Given the description of an element on the screen output the (x, y) to click on. 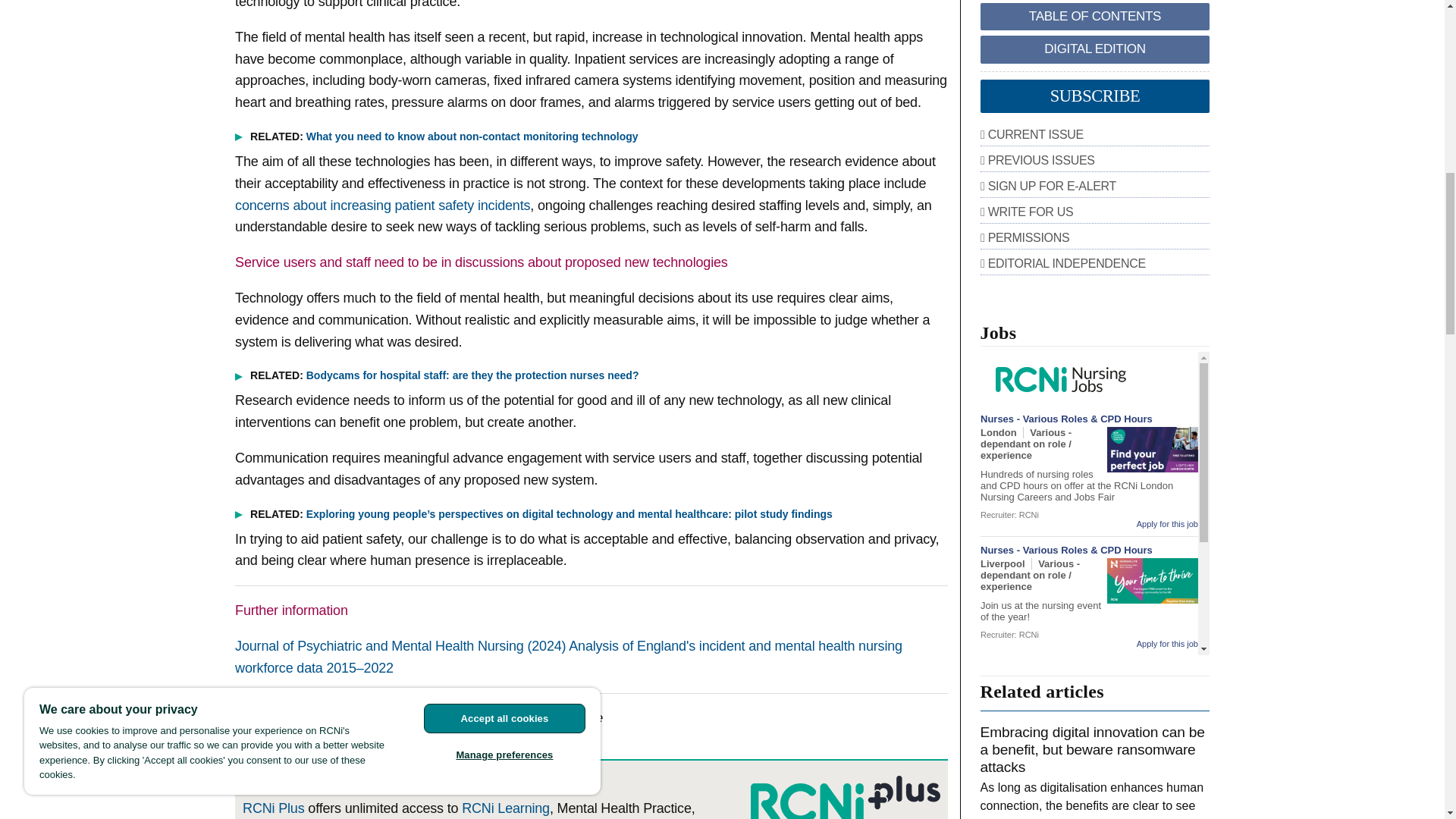
RCNi Learning (505, 807)
RCNi Plus (273, 807)
